Given the description of an element on the screen output the (x, y) to click on. 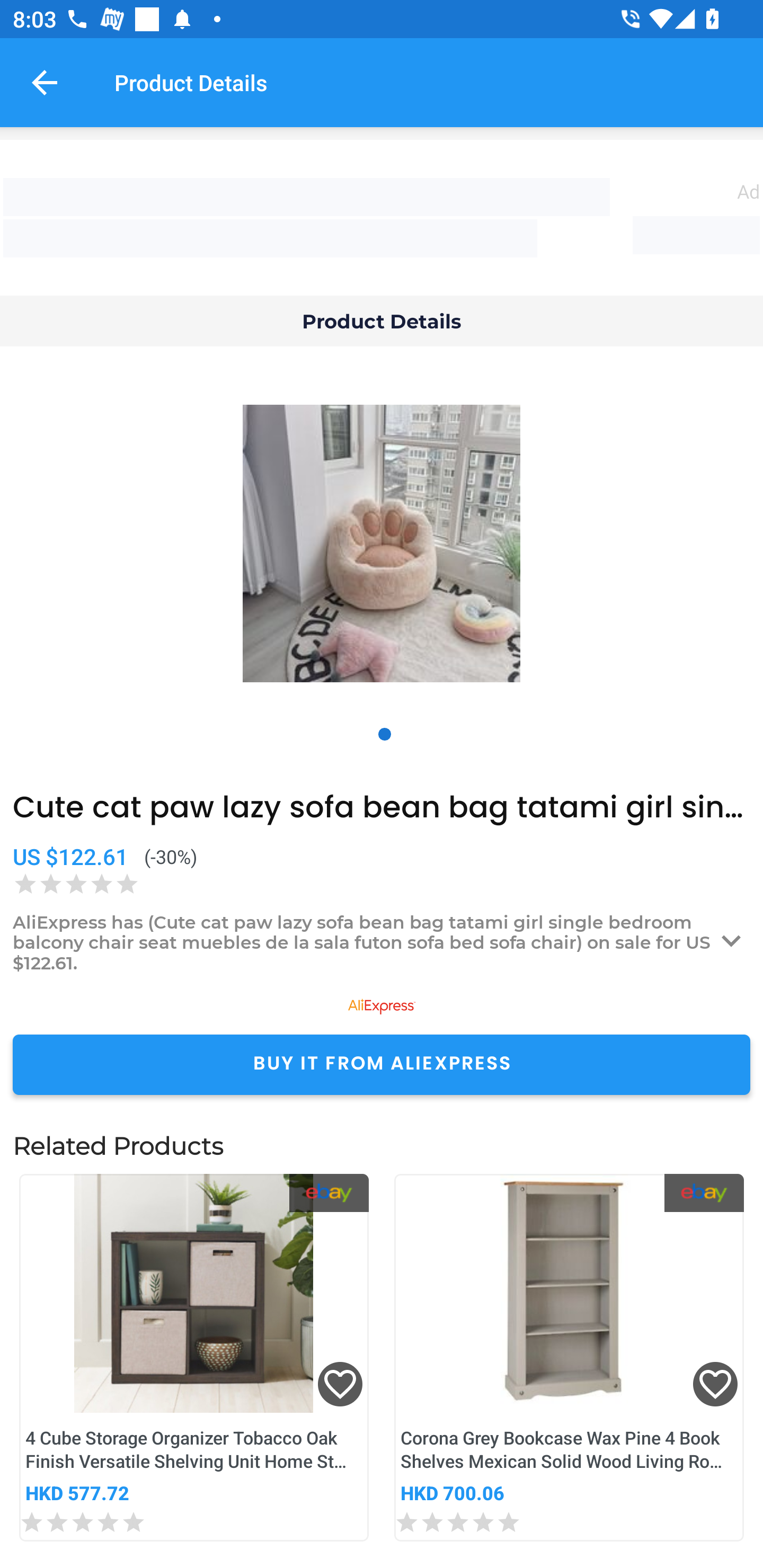
Navigate up (44, 82)
BUY IT FROM ALIEXPRESS (381, 1064)
